Given the description of an element on the screen output the (x, y) to click on. 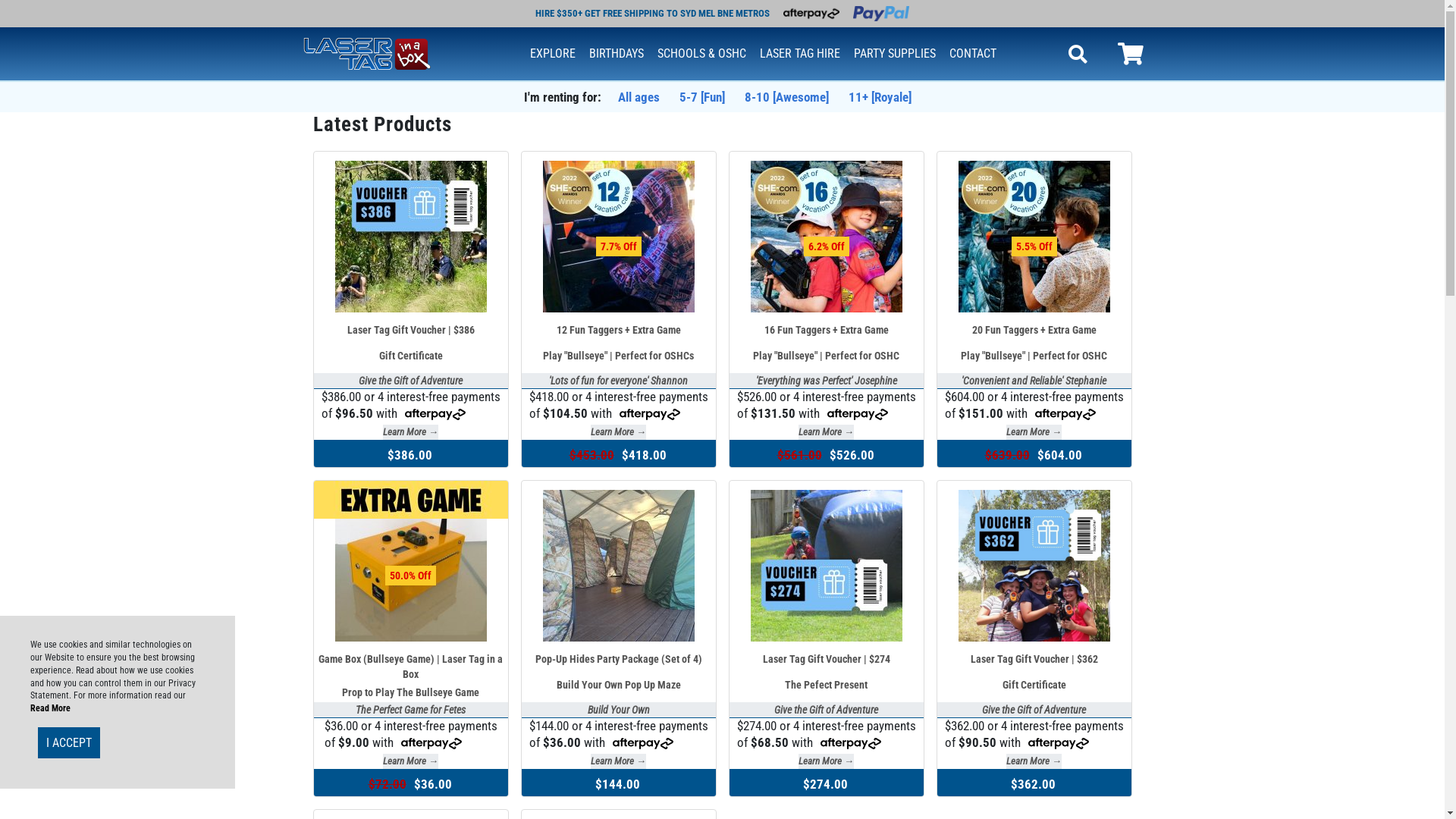
SCHOOLS & OSHC Element type: text (701, 53)
kids party hire Element type: hover (367, 51)
11+ [Royale] Element type: text (879, 96)
BIRTHDAYS Element type: text (616, 53)
8-10 [Awesome] Element type: text (786, 96)
EXPLORE Element type: text (552, 53)
CONTACT Element type: text (972, 53)
PARTY SUPPLIES Element type: text (894, 53)
I ACCEPT Element type: text (68, 742)
All ages Element type: text (638, 96)
Read More Element type: text (50, 707)
5-7 [Fun] Element type: text (701, 96)
LASER TAG HIRE Element type: text (800, 53)
